Given the description of an element on the screen output the (x, y) to click on. 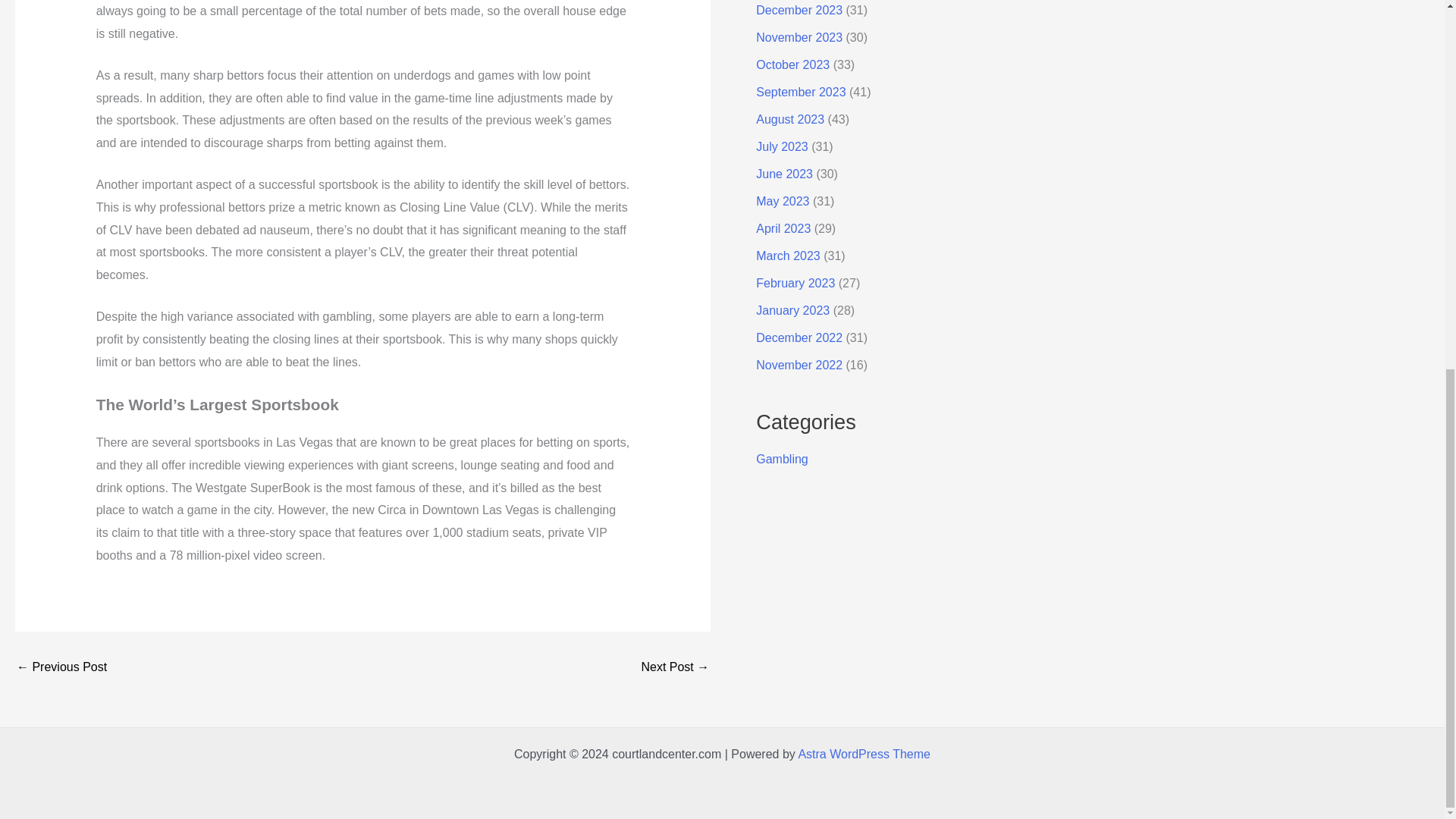
December 2023 (799, 10)
Astra WordPress Theme (863, 753)
June 2023 (783, 173)
November 2022 (799, 364)
Skills You Need to Succeed in Poker (674, 666)
November 2023 (799, 37)
October 2023 (792, 64)
April 2023 (782, 228)
May 2023 (782, 201)
February 2023 (794, 282)
